Given the description of an element on the screen output the (x, y) to click on. 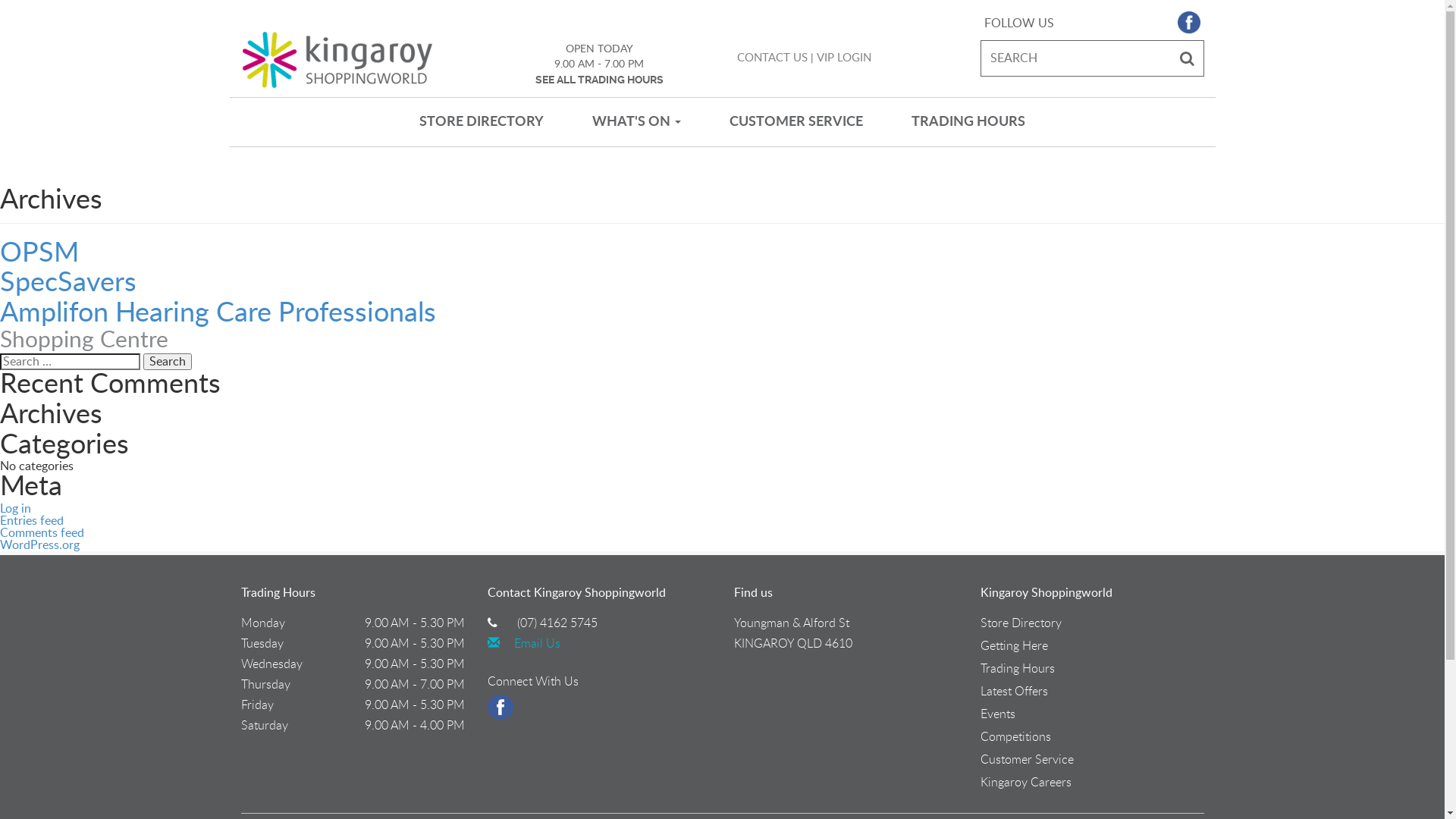
SpecSavers Element type: text (68, 282)
Email Us Element type: text (522, 643)
Comments feed Element type: text (42, 533)
Customer Service Element type: text (1026, 759)
OPSM Element type: text (39, 252)
SEE ALL TRADING HOURS Element type: text (599, 80)
CONTACT US Element type: text (772, 57)
Competitions Element type: text (1014, 737)
STORE DIRECTORY Element type: text (481, 121)
Latest Offers Element type: text (1013, 691)
Search Element type: text (167, 361)
Getting Here Element type: text (1013, 646)
Amplifon Hearing Care Professionals Element type: text (218, 312)
WHAT'S ON Element type: text (636, 121)
Trading Hours Element type: text (1016, 668)
Events Element type: text (996, 714)
Store Directory Element type: text (1019, 623)
Log in Element type: text (15, 508)
VIP LOGIN Element type: text (842, 57)
Search Element type: text (1186, 57)
TRADING HOURS Element type: text (968, 121)
CUSTOMER SERVICE Element type: text (795, 121)
Kingaroy Careers Element type: text (1024, 782)
Entries feed Element type: text (31, 520)
WordPress.org Element type: text (39, 545)
